Given the description of an element on the screen output the (x, y) to click on. 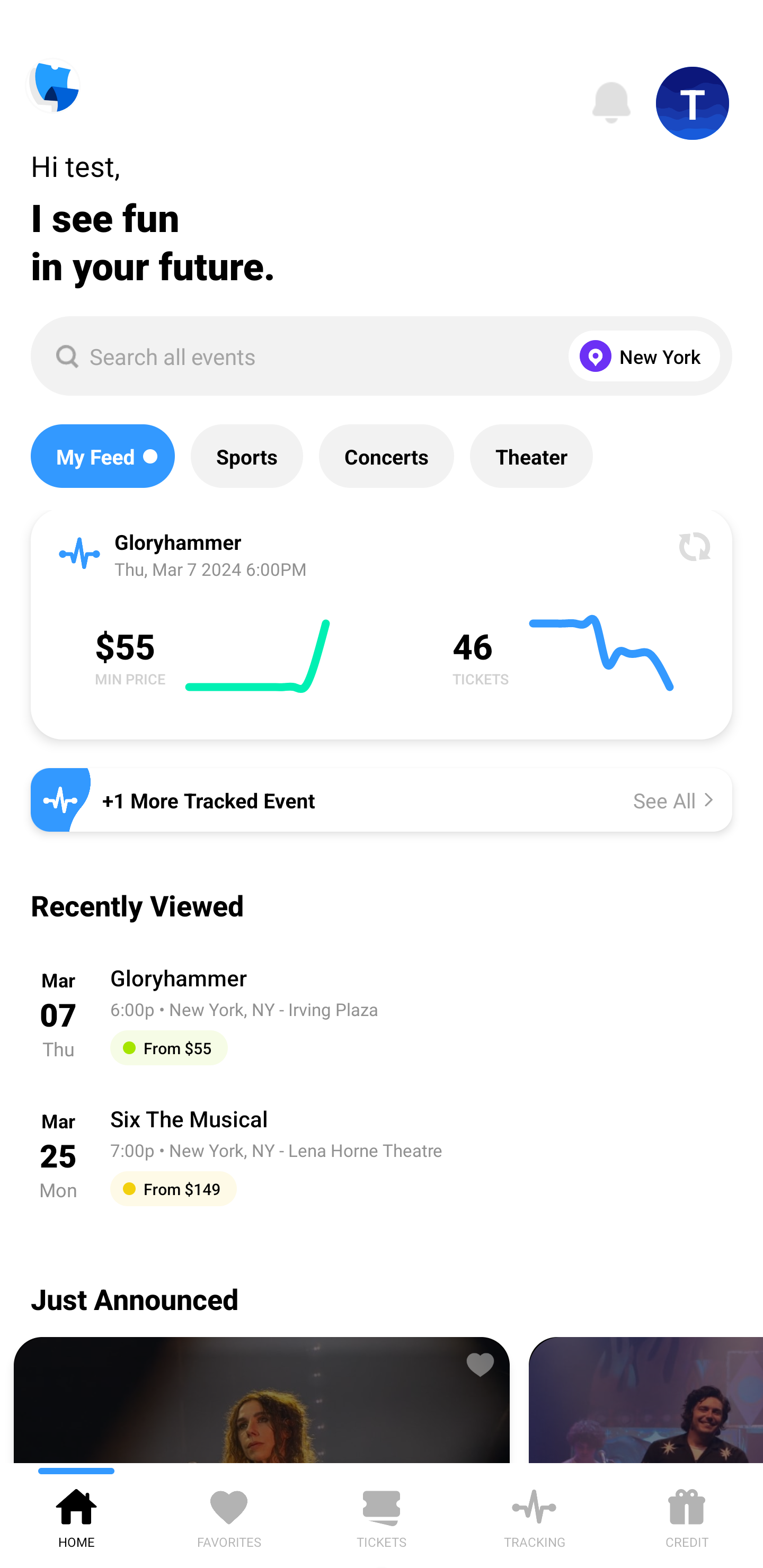
T (692, 103)
New York (640, 355)
My Feed (102, 455)
Sports (246, 455)
Concerts (385, 455)
Theater (531, 455)
HOME (76, 1515)
FAVORITES (228, 1515)
TICKETS (381, 1515)
TRACKING (533, 1515)
CREDIT (686, 1515)
